Given the description of an element on the screen output the (x, y) to click on. 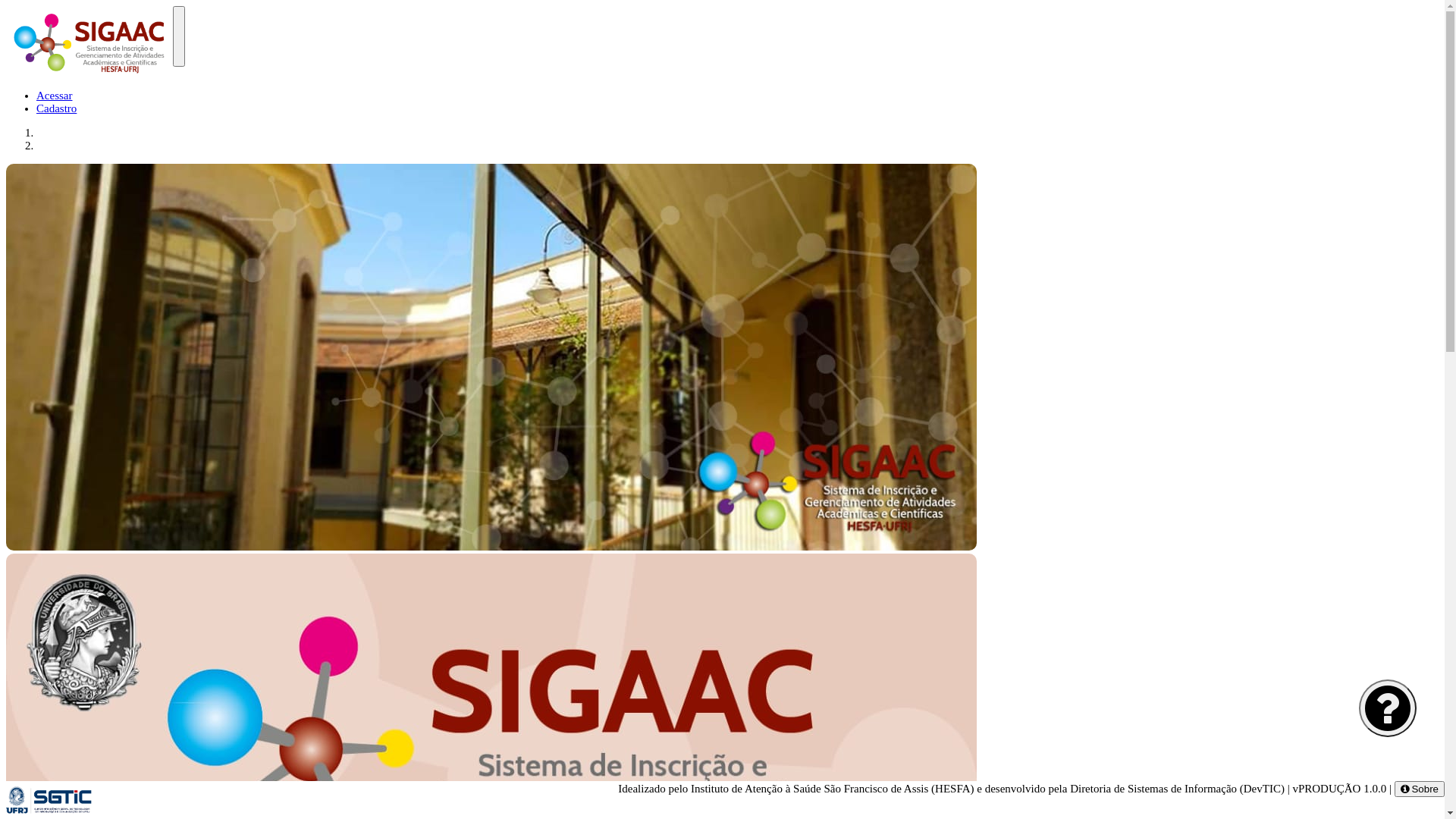
Sobre Element type: text (1419, 789)
Menu Element type: text (178, 36)
Cadastro Element type: text (56, 108)
Acessar Element type: text (54, 95)
